Given the description of an element on the screen output the (x, y) to click on. 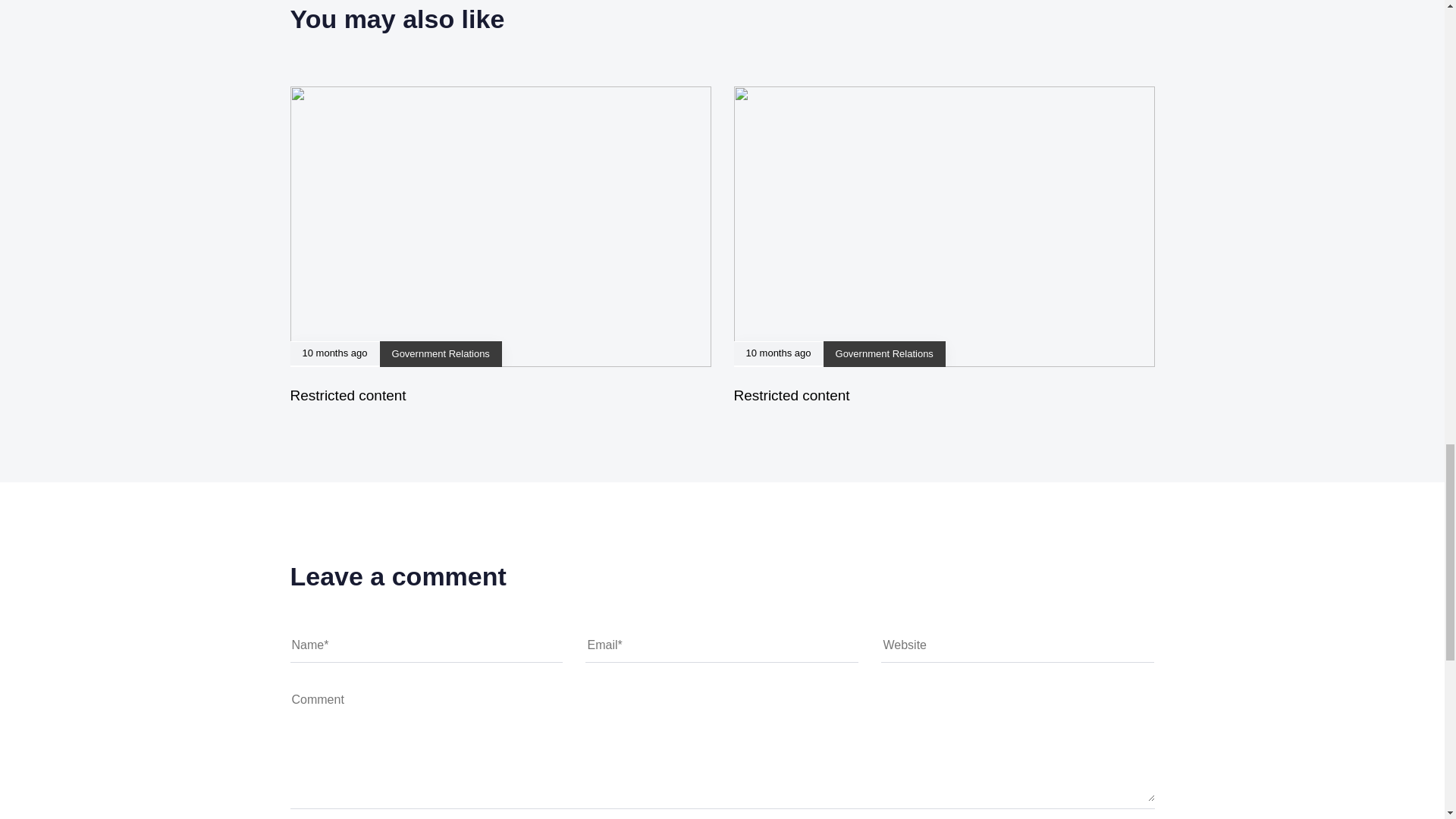
Restricted content (347, 395)
Government Relations (884, 353)
Restricted content (791, 395)
Government Relations (440, 353)
